Given the description of an element on the screen output the (x, y) to click on. 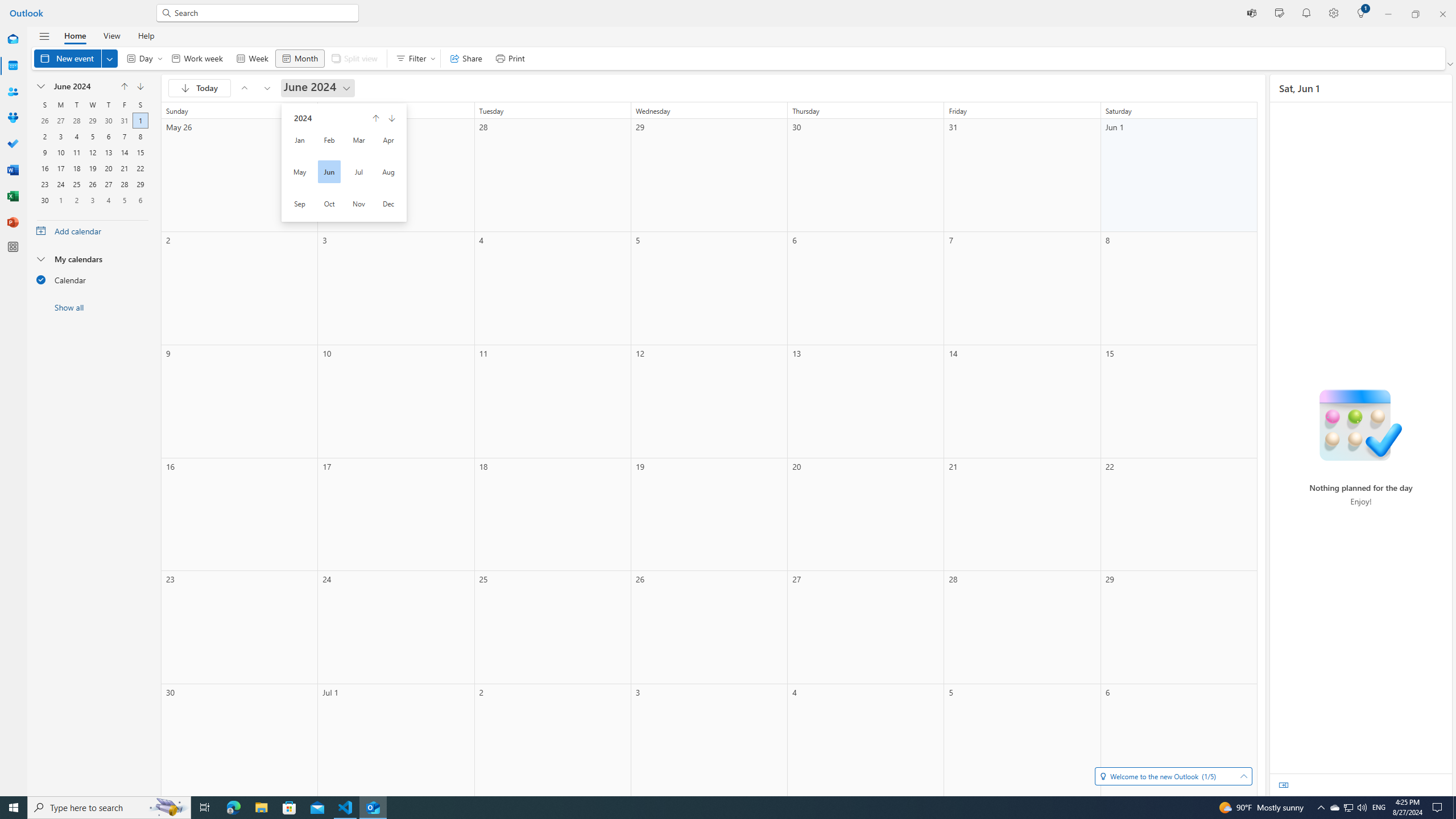
Word (12, 169)
29, June, 2024 (140, 183)
11, June, 2024 (76, 151)
Outlook (new) - 1 running window (373, 807)
Excel (12, 196)
25, June, 2024 (75, 183)
To Do (12, 143)
5, July, 2024 (124, 198)
30, June, 2024 (44, 199)
Week (251, 58)
28, May, 2024 (76, 119)
